Given the description of an element on the screen output the (x, y) to click on. 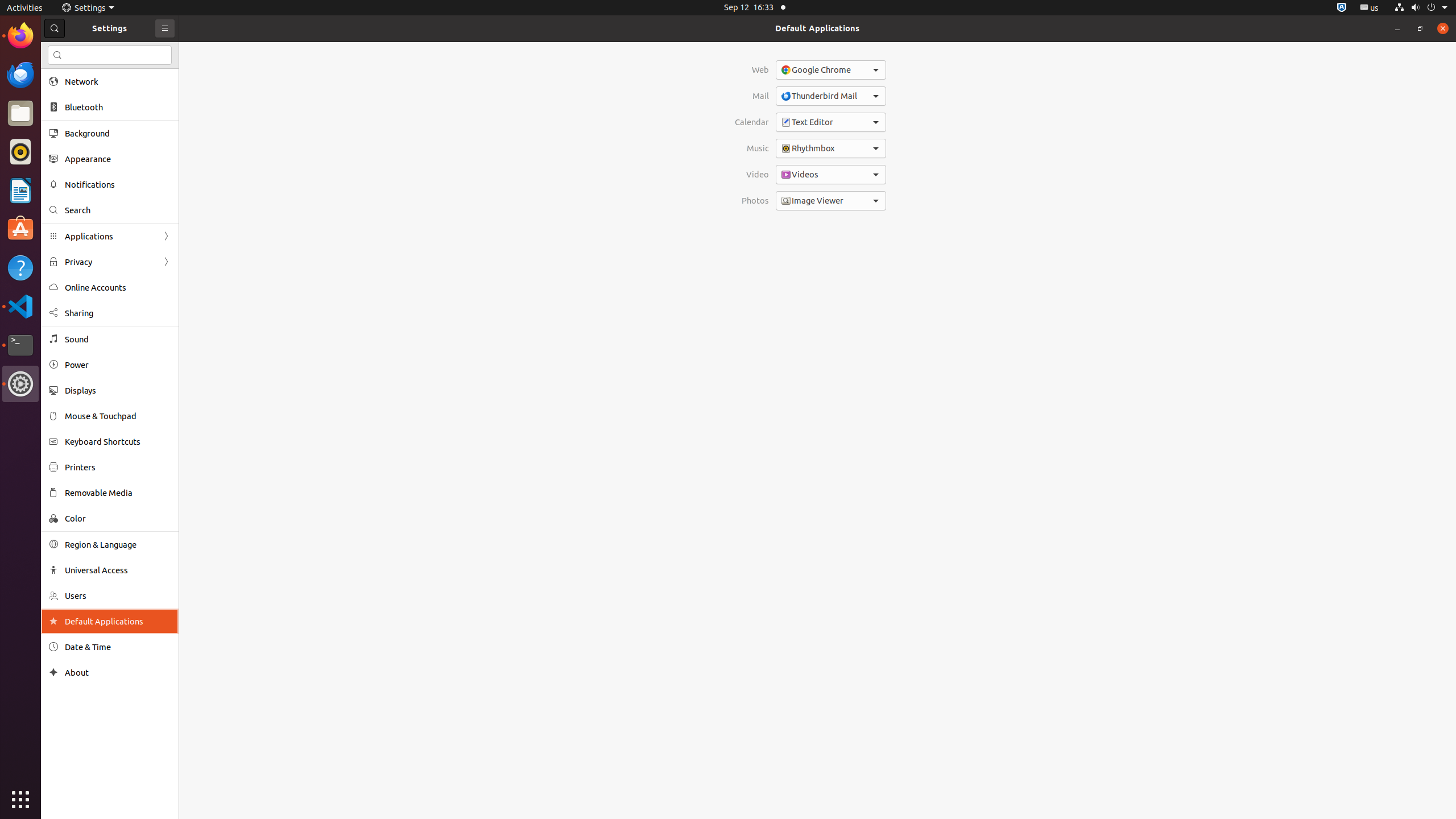
Settings Element type: push-button (20, 383)
luyi1 Element type: label (75, 50)
Appearance Element type: label (117, 158)
Region & Language Element type: label (117, 544)
